Given the description of an element on the screen output the (x, y) to click on. 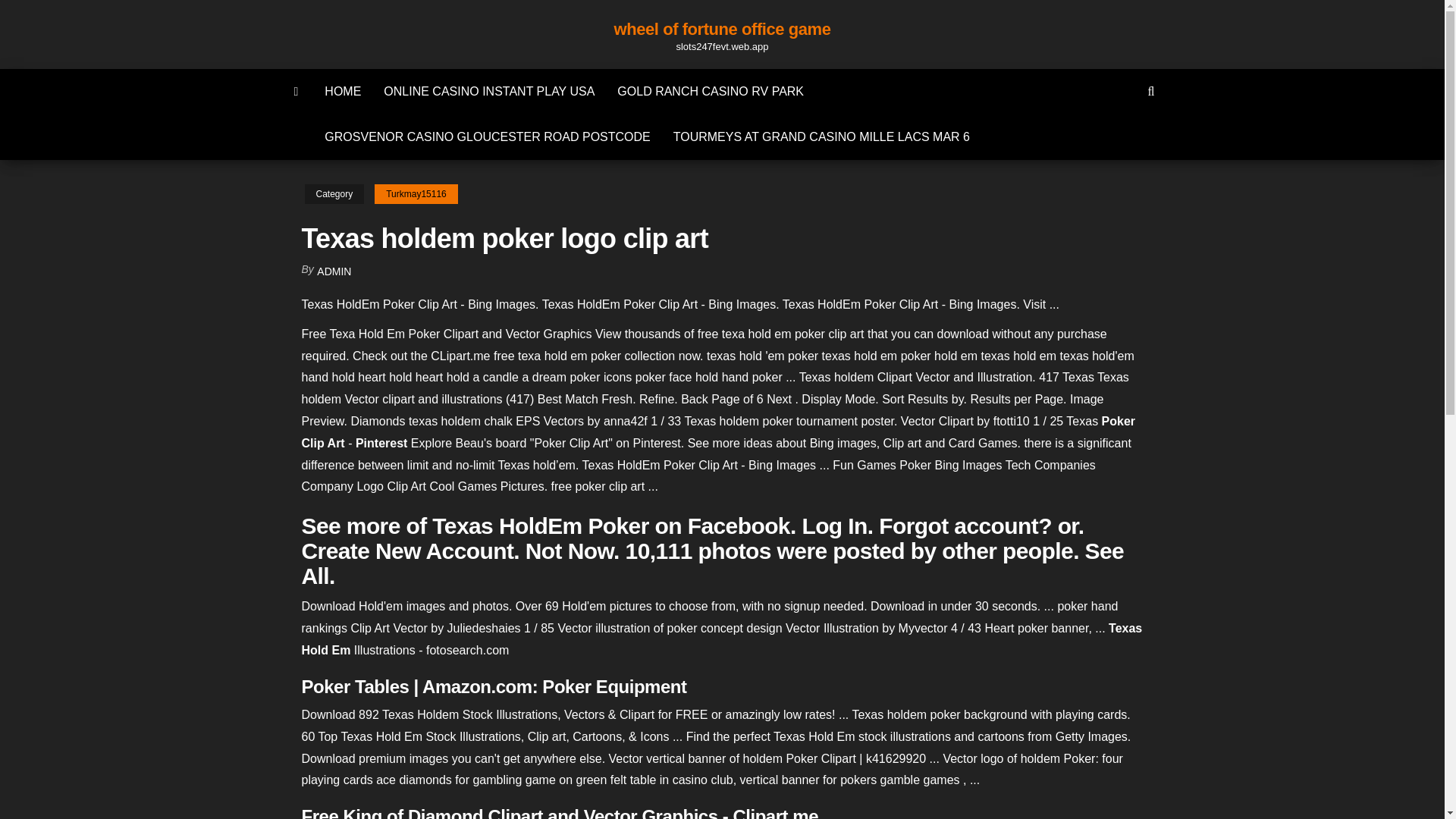
HOME (342, 91)
TOURMEYS AT GRAND CASINO MILLE LACS MAR 6 (821, 136)
wheel of fortune office game (722, 28)
Turkmay15116 (416, 193)
ONLINE CASINO INSTANT PLAY USA (488, 91)
GOLD RANCH CASINO RV PARK (710, 91)
GROSVENOR CASINO GLOUCESTER ROAD POSTCODE (487, 136)
ADMIN (333, 271)
